Given the description of an element on the screen output the (x, y) to click on. 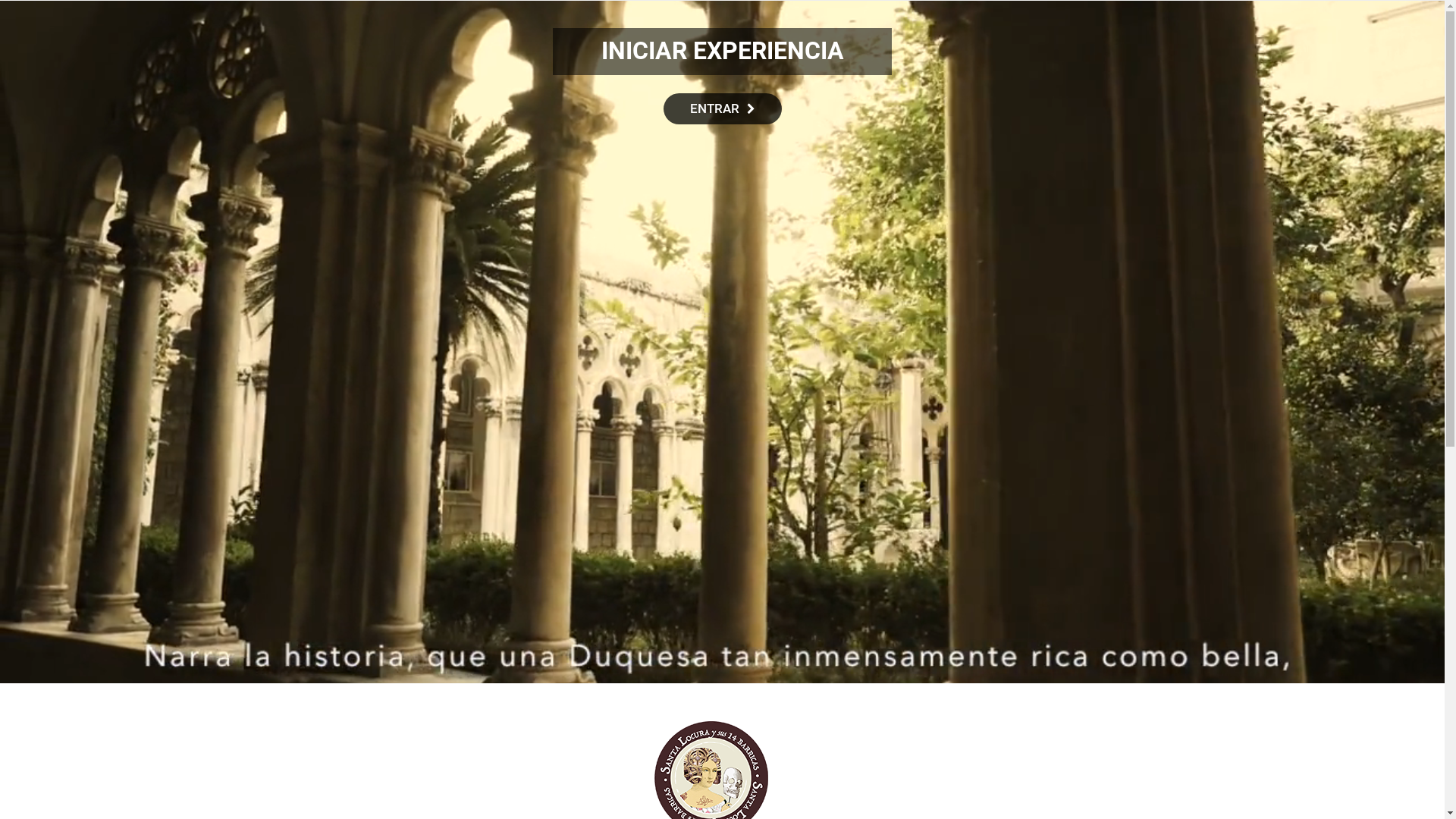
ENTRAR Element type: text (722, 108)
INICIAR EXPERIENCIA Element type: text (722, 50)
